Given the description of an element on the screen output the (x, y) to click on. 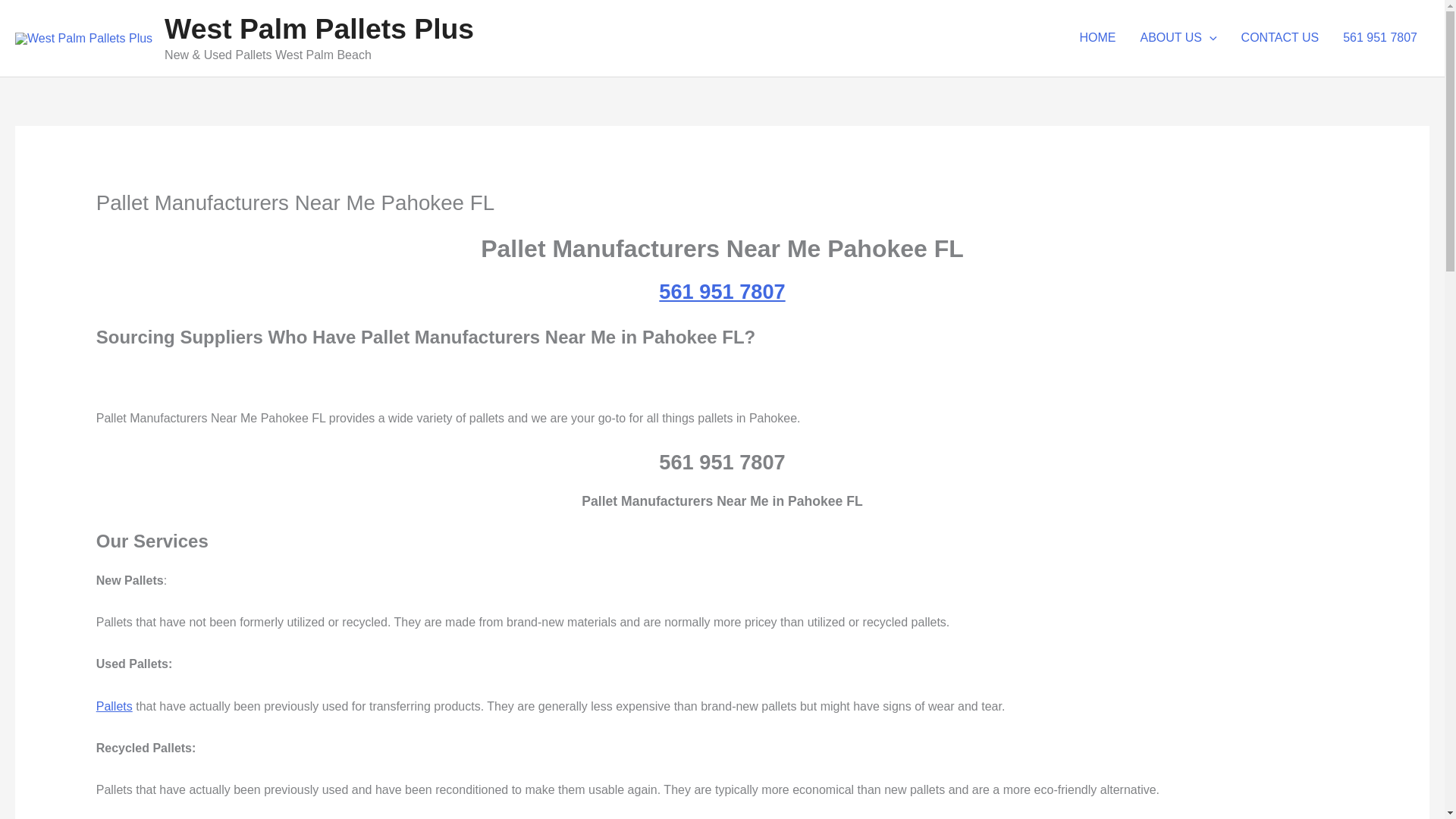
HOME (1097, 37)
CONTACT US (1280, 37)
ABOUT US (1178, 37)
561 951 7807 (1379, 37)
West Palm Pallets Plus (319, 29)
